Given the description of an element on the screen output the (x, y) to click on. 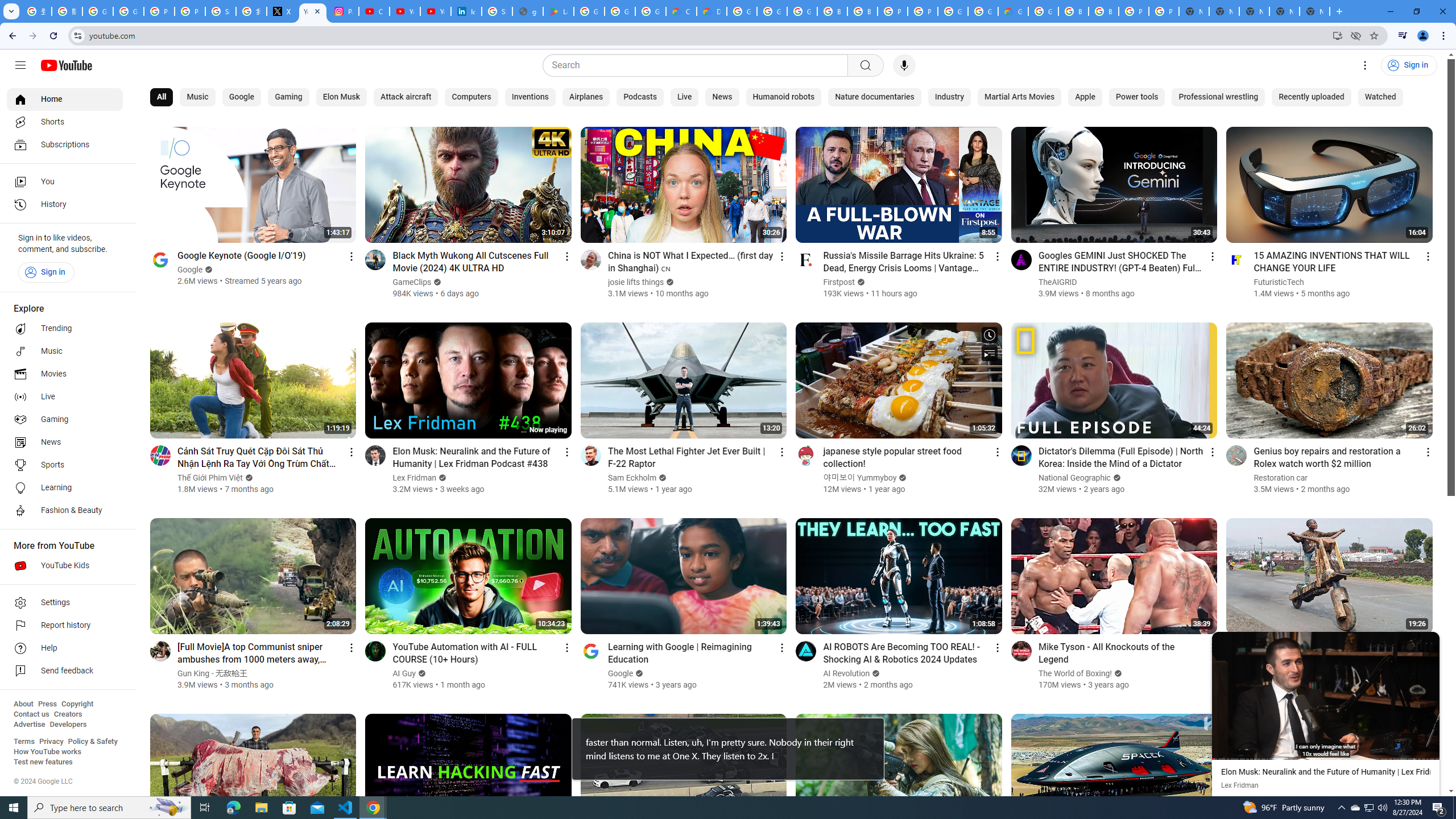
Sign in - Google Accounts (220, 11)
Subscriptions (64, 144)
Press (46, 703)
Settings (1365, 65)
Browse Chrome as a guest - Computer - Google Chrome Help (1072, 11)
Computers (470, 97)
Google Cloud Platform (1042, 11)
Browse Chrome as a guest - Computer - Google Chrome Help (1103, 11)
